Given the description of an element on the screen output the (x, y) to click on. 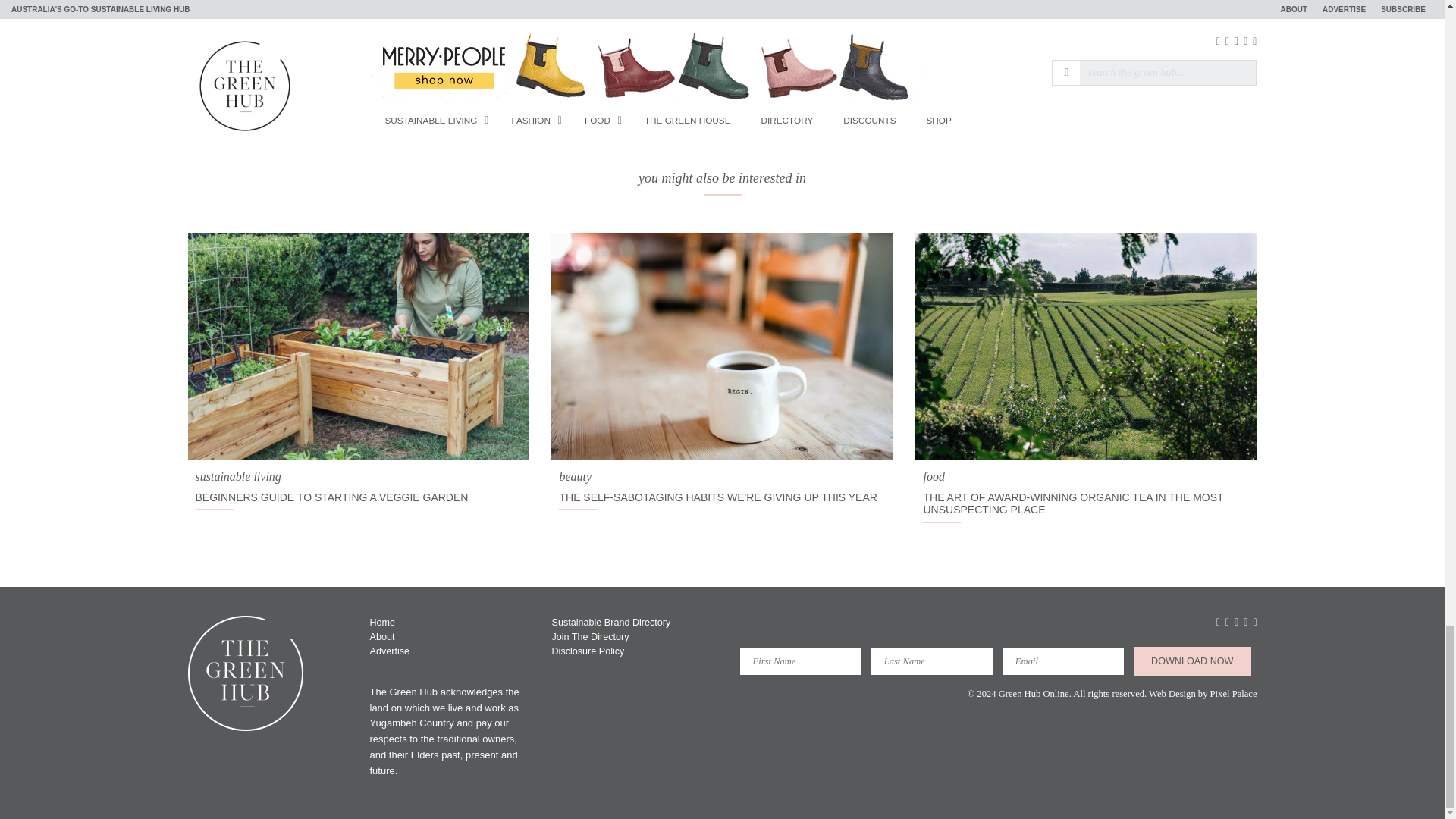
Download Now (1192, 661)
